Given the description of an element on the screen output the (x, y) to click on. 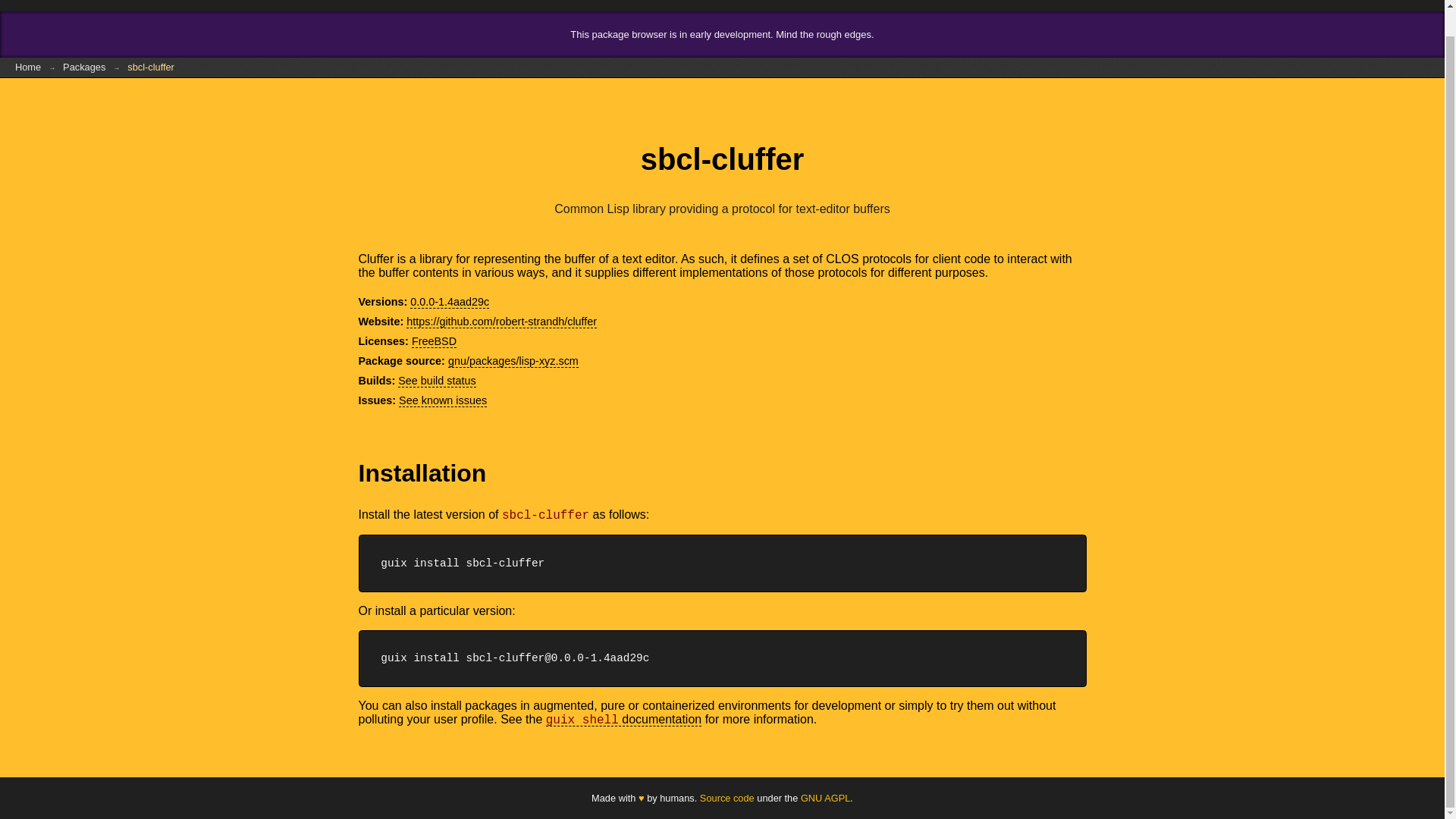
Source code (727, 797)
Home (28, 66)
GNU Guix (60, 5)
GNU AGPL (825, 797)
See known issues (442, 400)
Packages (84, 66)
See build status (436, 380)
0.0.0-1.4aad29c (449, 301)
guix shell documentation (623, 719)
FreeBSD (434, 341)
